Given the description of an element on the screen output the (x, y) to click on. 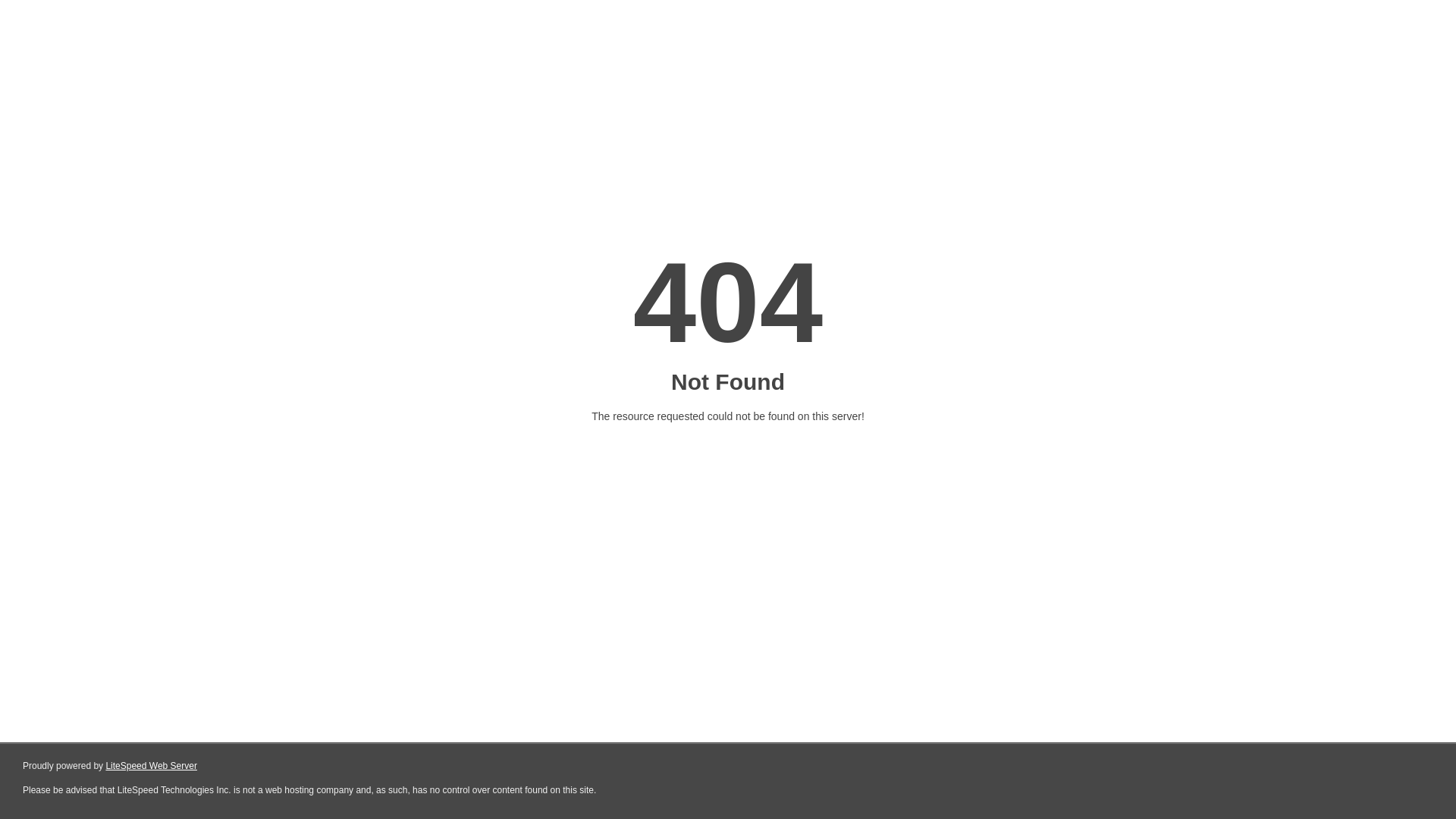
LiteSpeed Web Server Element type: text (151, 765)
